Given the description of an element on the screen output the (x, y) to click on. 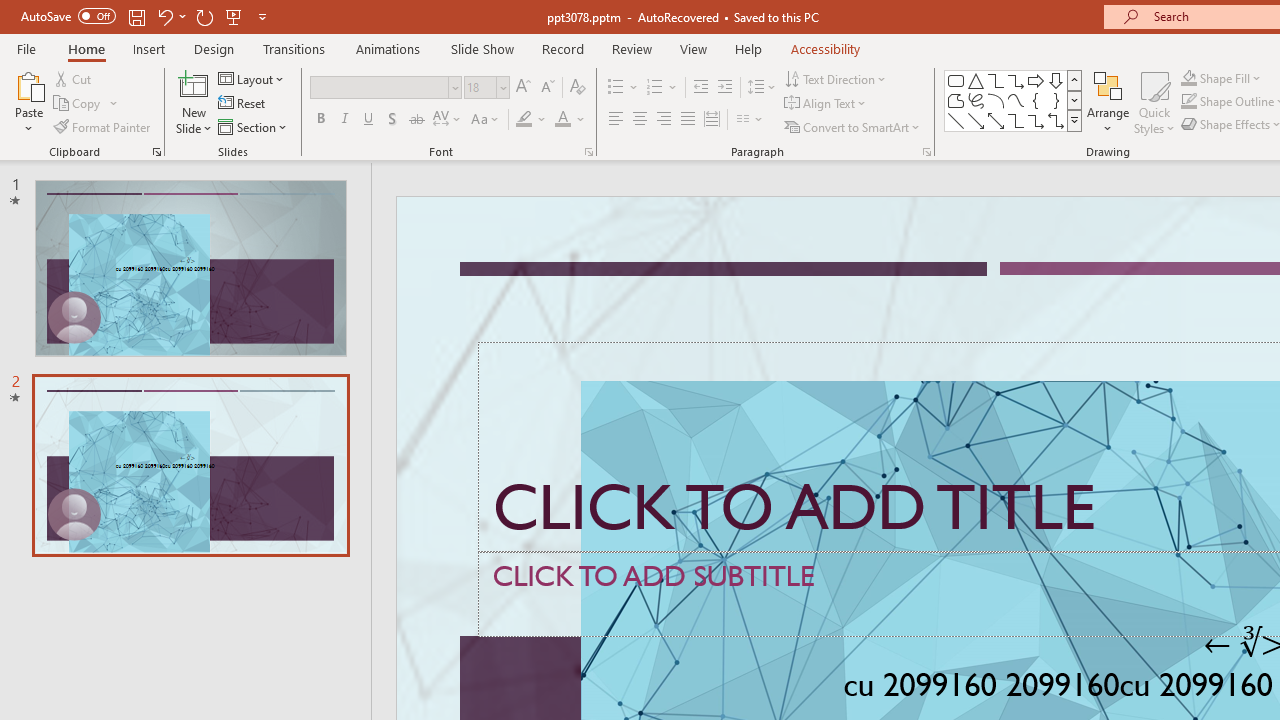
Connector: Elbow Double-Arrow (1055, 120)
